Given the description of an element on the screen output the (x, y) to click on. 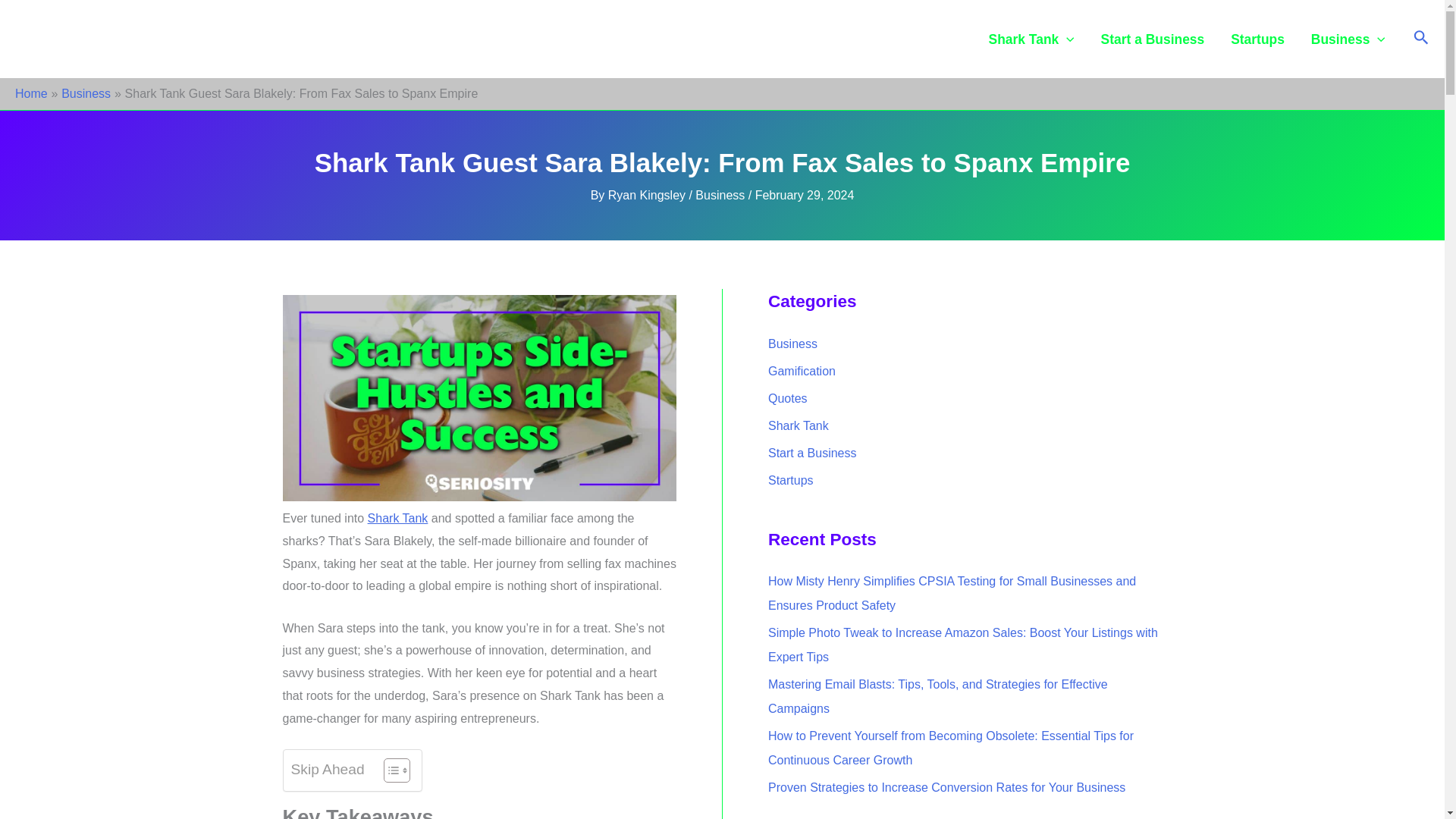
Home (31, 92)
Shark Tank (398, 517)
Start a Business (1152, 38)
Shark Tank (398, 517)
Shark Tank (1031, 38)
Business (1347, 38)
Business (719, 195)
Business (85, 92)
Ryan Kingsley (648, 195)
Startups (1257, 38)
View all posts by Ryan Kingsley (648, 195)
